Given the description of an element on the screen output the (x, y) to click on. 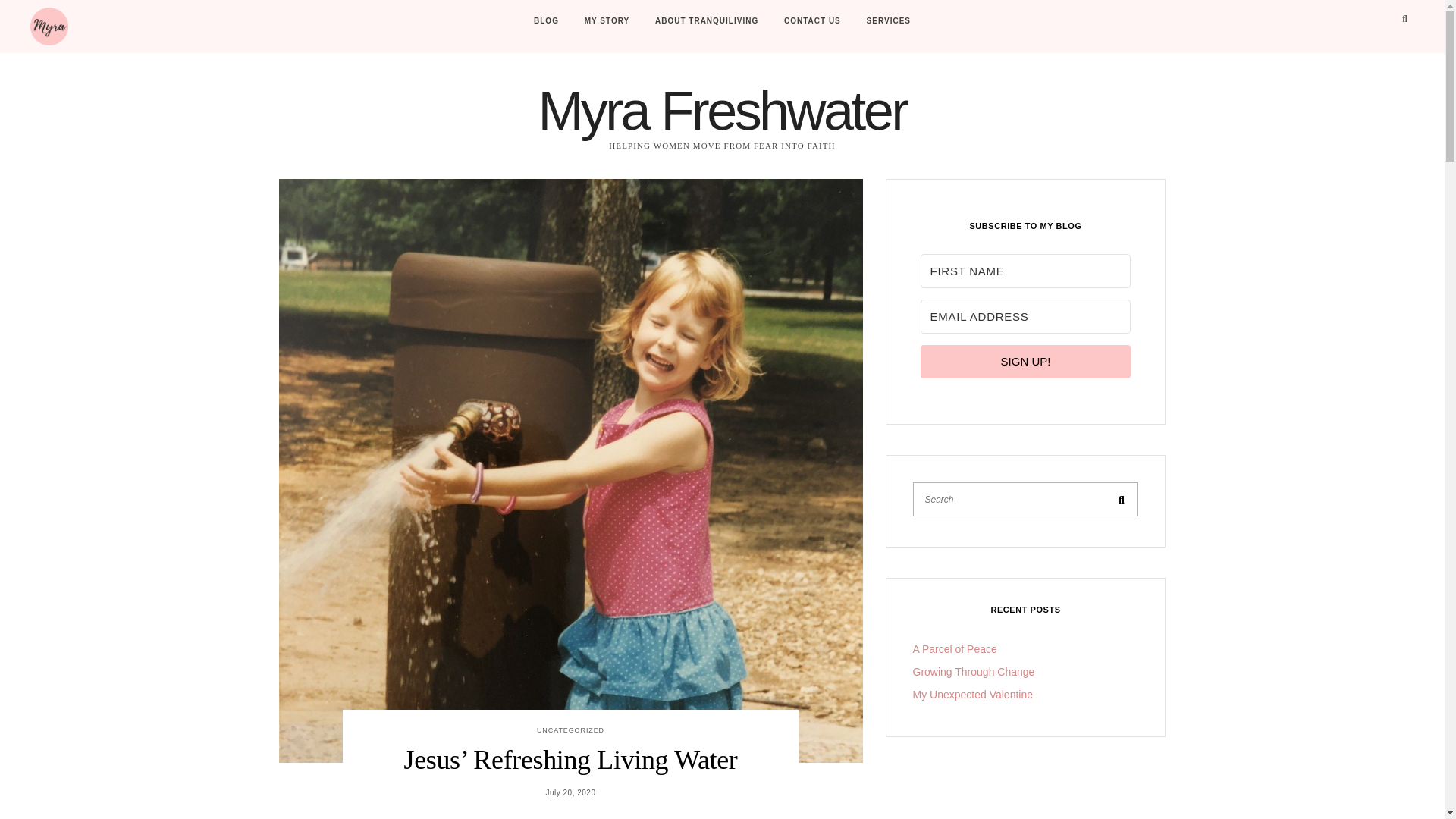
CONTACT US (812, 21)
Growing Through Change (973, 671)
SERVICES (888, 21)
BLOG (546, 21)
UNCATEGORIZED (570, 729)
My Unexpected Valentine (972, 694)
Services (888, 21)
ABOUT TRANQUILIVING (706, 21)
About Tranquiliving (706, 21)
Myra Freshwater (721, 110)
